Given the description of an element on the screen output the (x, y) to click on. 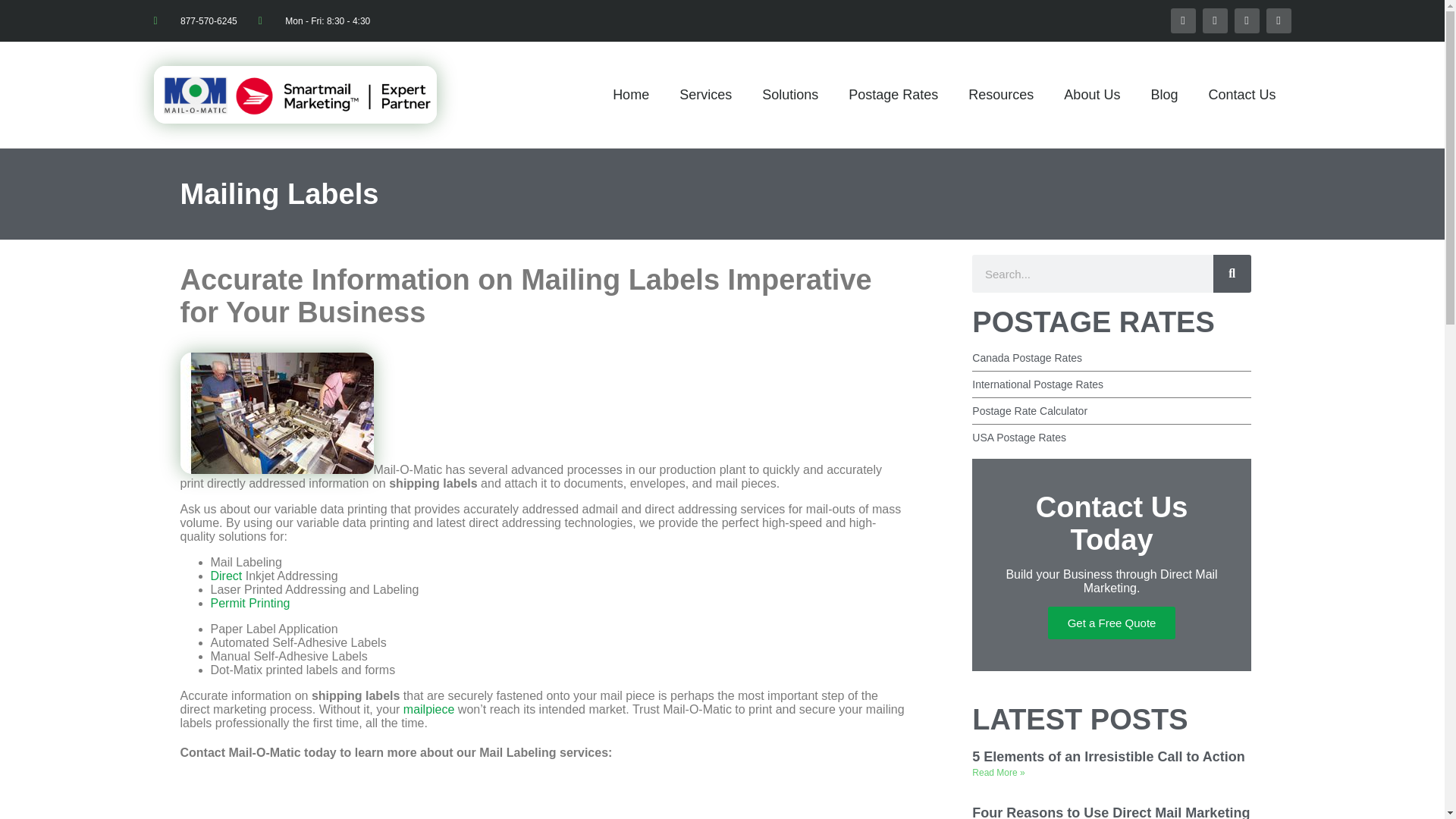
Mailing Labels 1 (277, 413)
Postage Rates (892, 94)
877-570-6245 (193, 20)
